Given the description of an element on the screen output the (x, y) to click on. 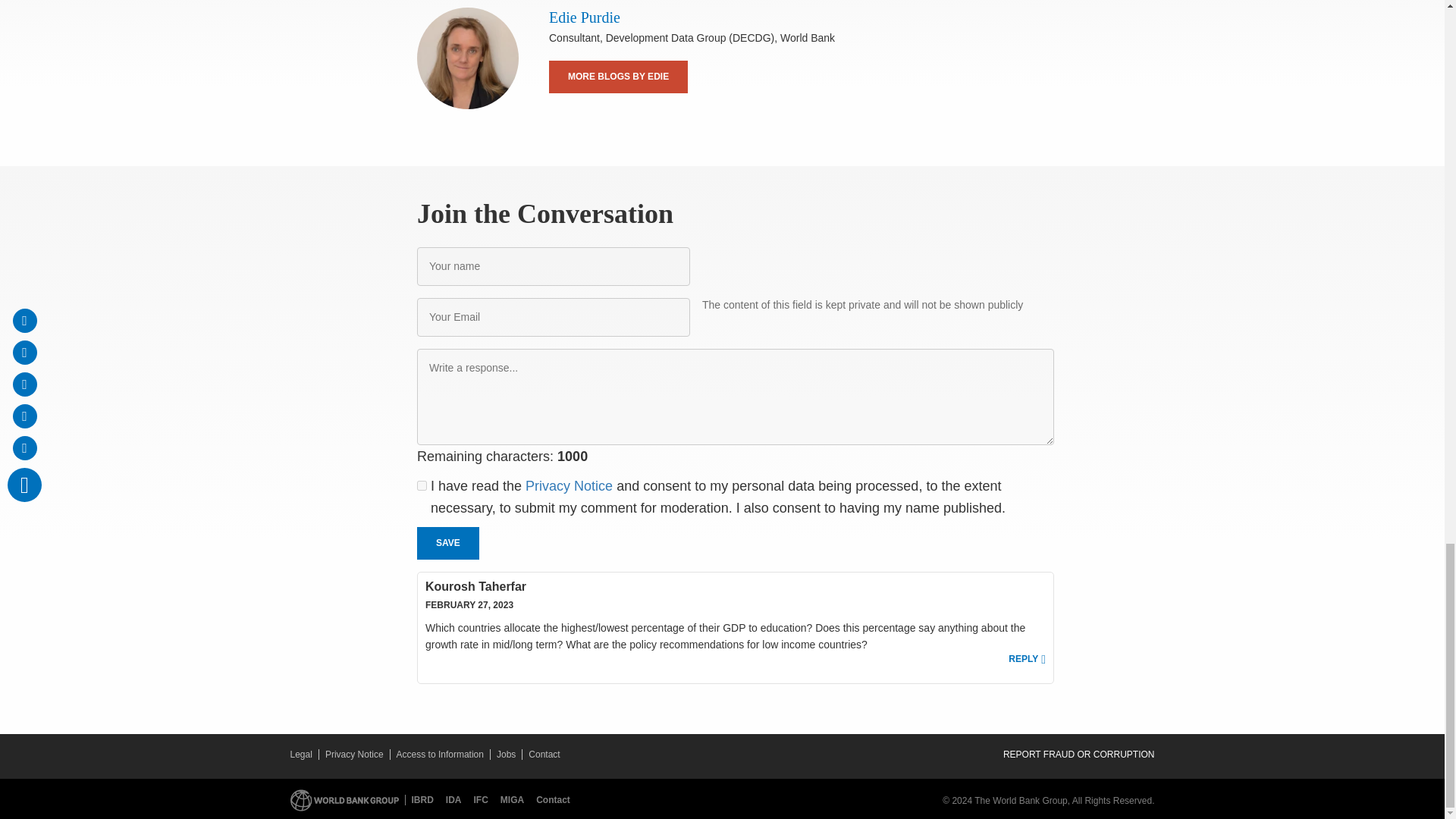
MORE BLOGS BY EDIE (617, 76)
SAVE (447, 543)
1 (421, 485)
MIGA (514, 799)
Edie Purdie's picture (467, 57)
IBRD (421, 799)
Your name (553, 266)
Contact (552, 799)
IFC (484, 799)
REPLY (1027, 658)
